Given the description of an element on the screen output the (x, y) to click on. 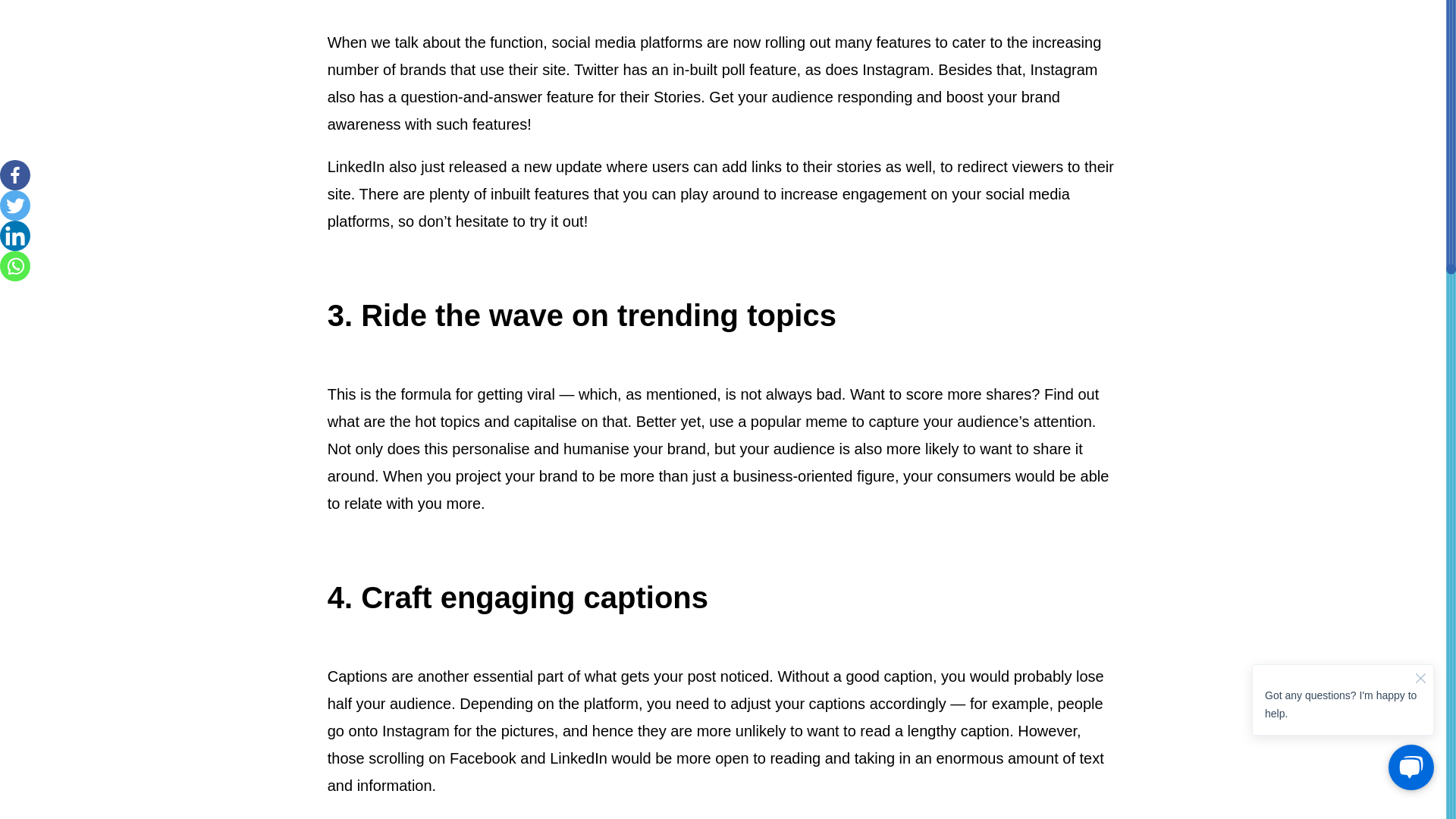
LinkedIn also just released a new update (464, 166)
